Given the description of an element on the screen output the (x, y) to click on. 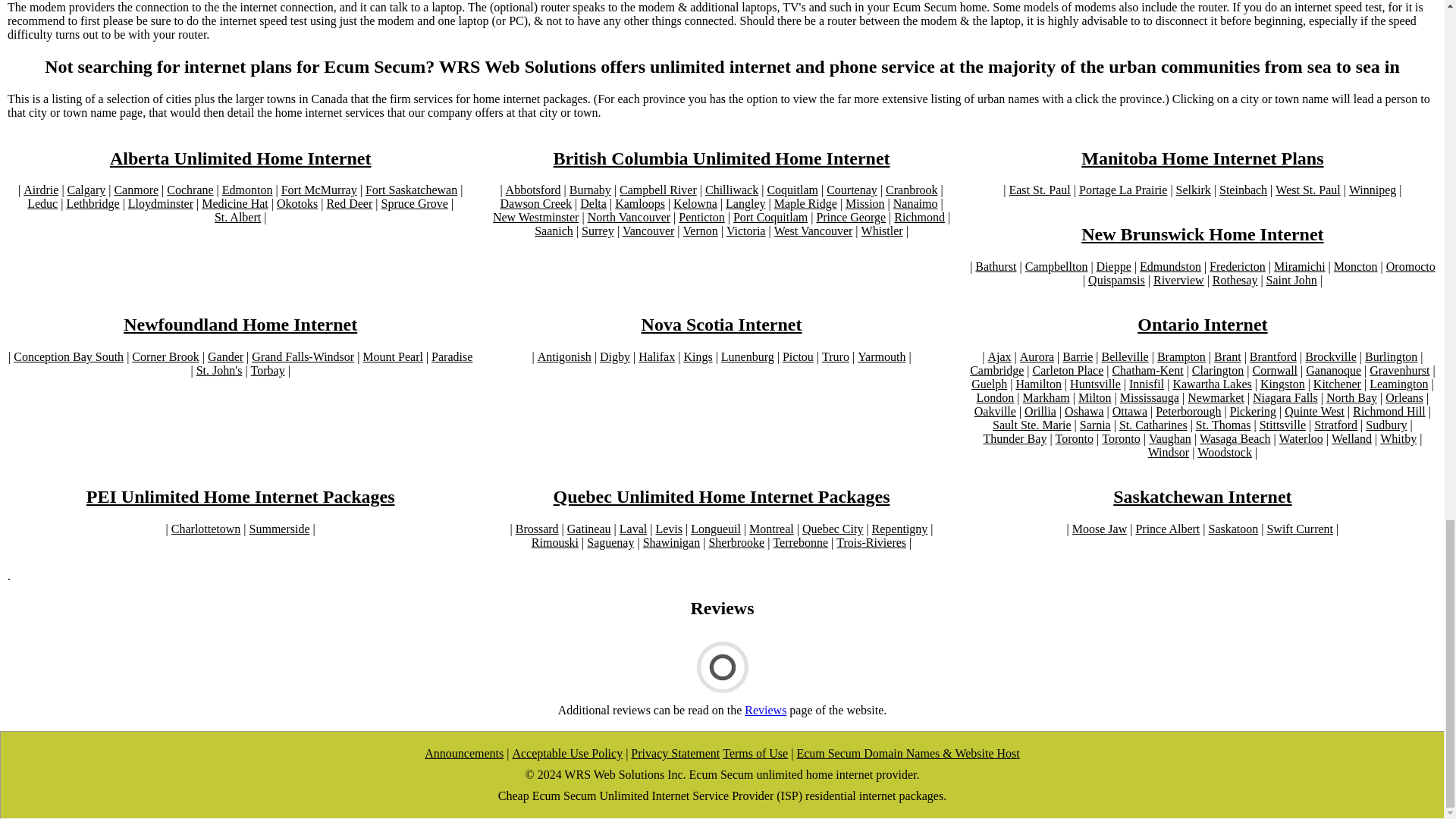
Alberta Unlimited Home Internet (240, 158)
St. Albert (237, 217)
Abbotsford (532, 190)
Spruce Grove (413, 203)
Lethbridge (92, 203)
Fort Saskatchewan (411, 190)
Red Deer (349, 203)
Okotoks (296, 203)
Edmonton (247, 190)
Medicine Hat (234, 203)
